Given the description of an element on the screen output the (x, y) to click on. 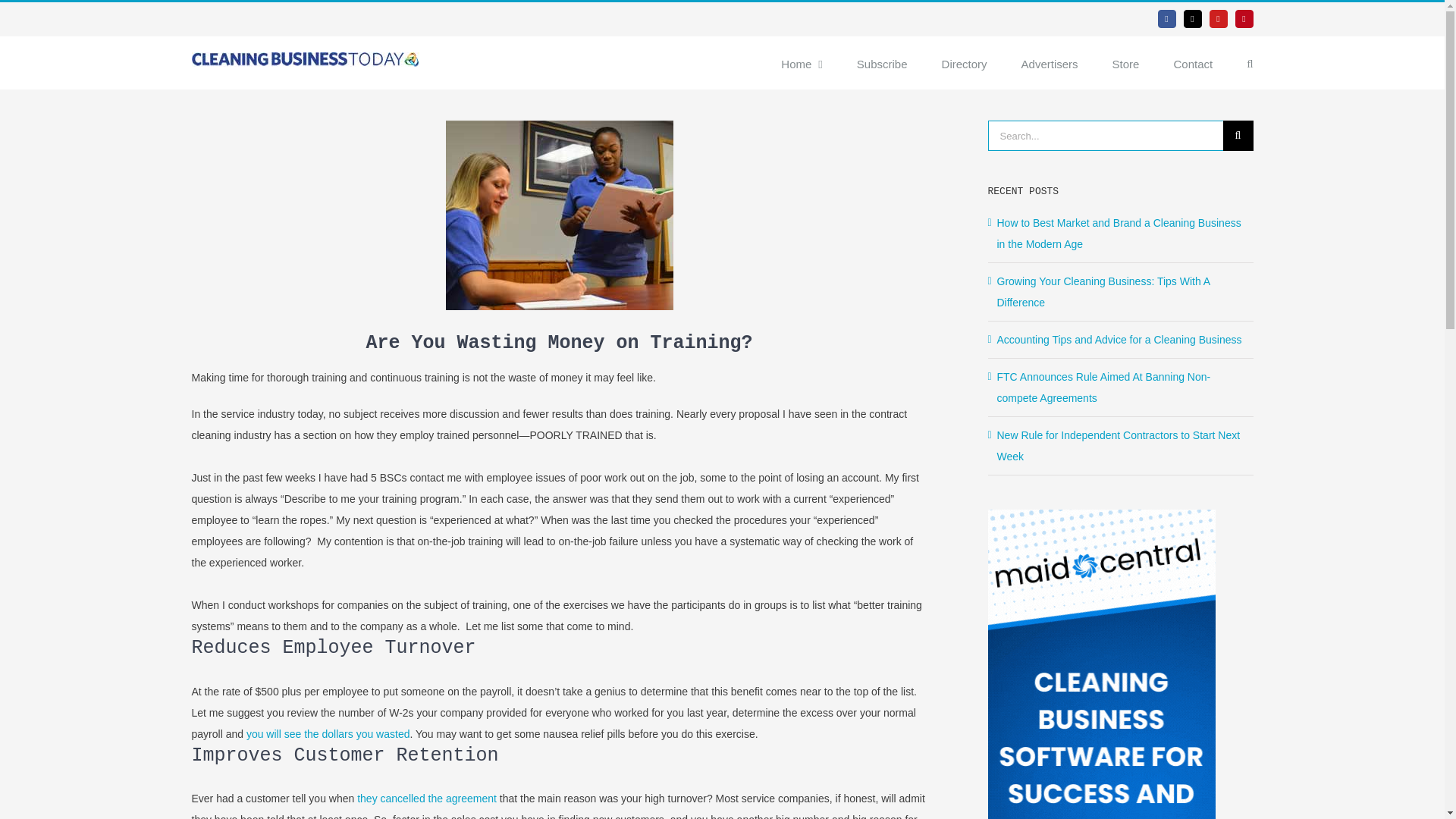
Subscribe (882, 62)
Facebook (1165, 18)
YouTube (1217, 18)
Advertisers (1050, 62)
Pinterest (1243, 18)
Twitter (1191, 18)
